Given the description of an element on the screen output the (x, y) to click on. 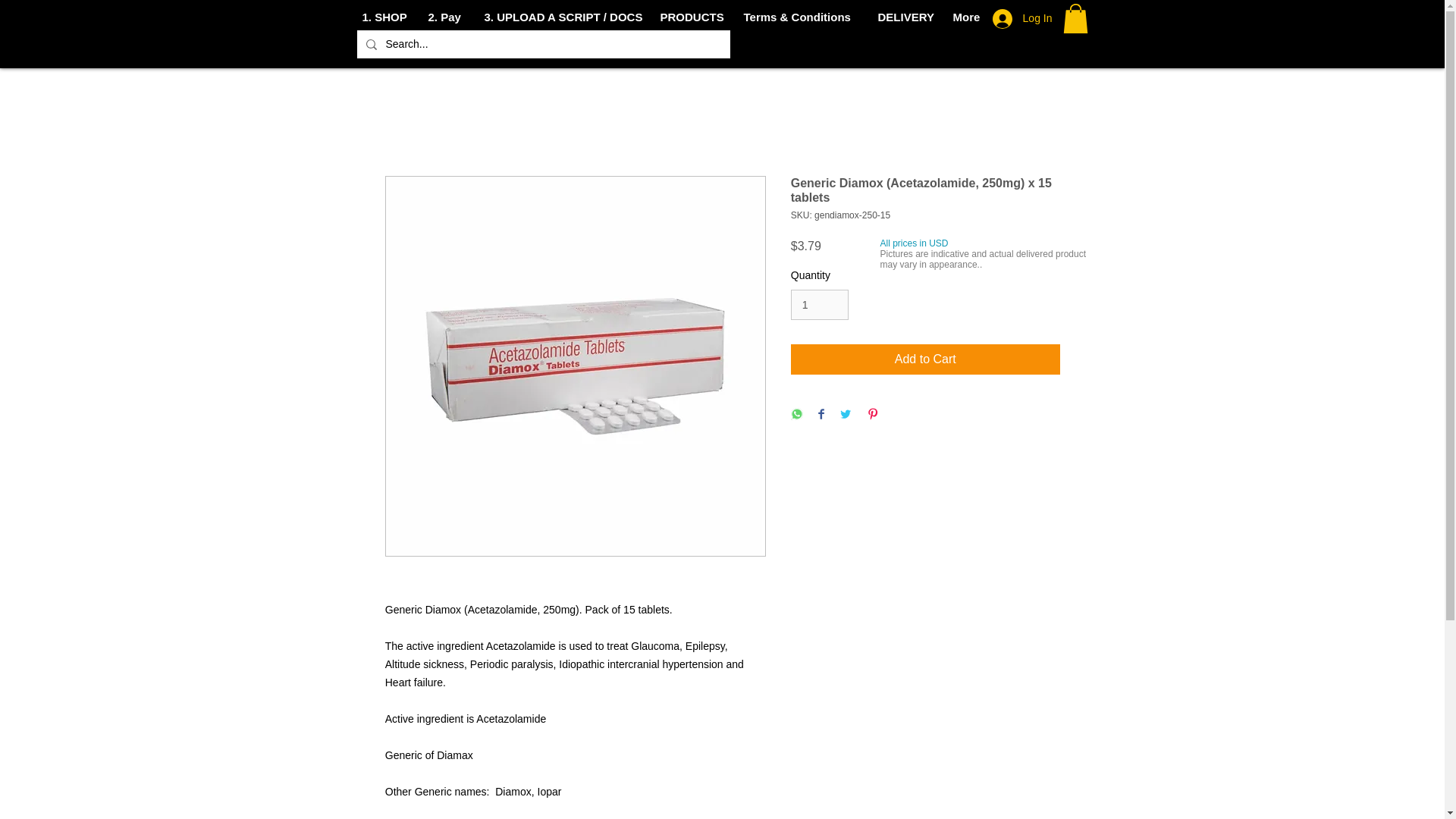
Add to Cart (924, 358)
Log In (1021, 18)
1 (819, 305)
1. SHOP (383, 16)
PRODUCTS (690, 16)
